Given the description of an element on the screen output the (x, y) to click on. 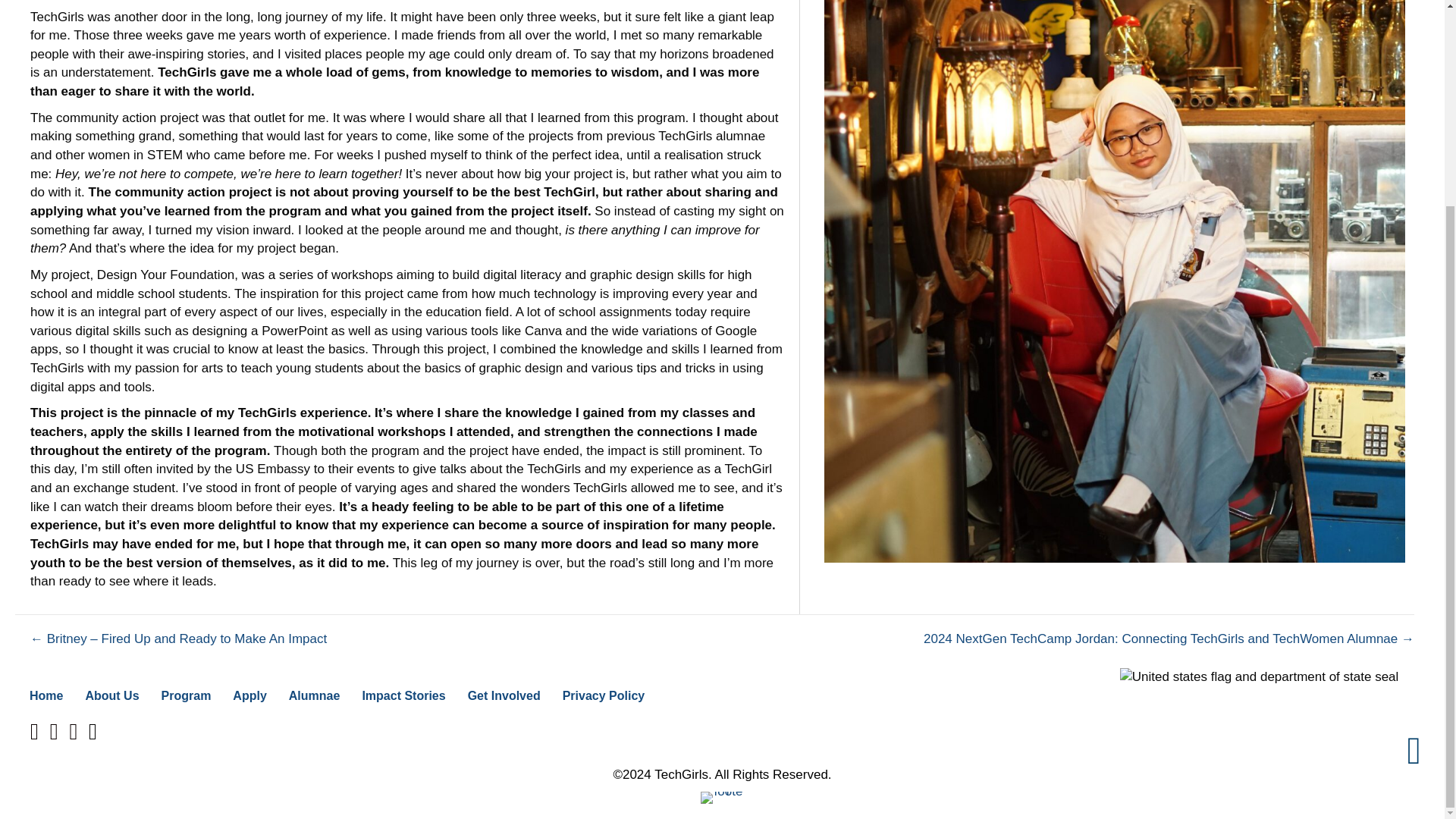
Program (186, 695)
footer (722, 797)
About Us (111, 695)
Apply (249, 695)
Home (46, 695)
